Given the description of an element on the screen output the (x, y) to click on. 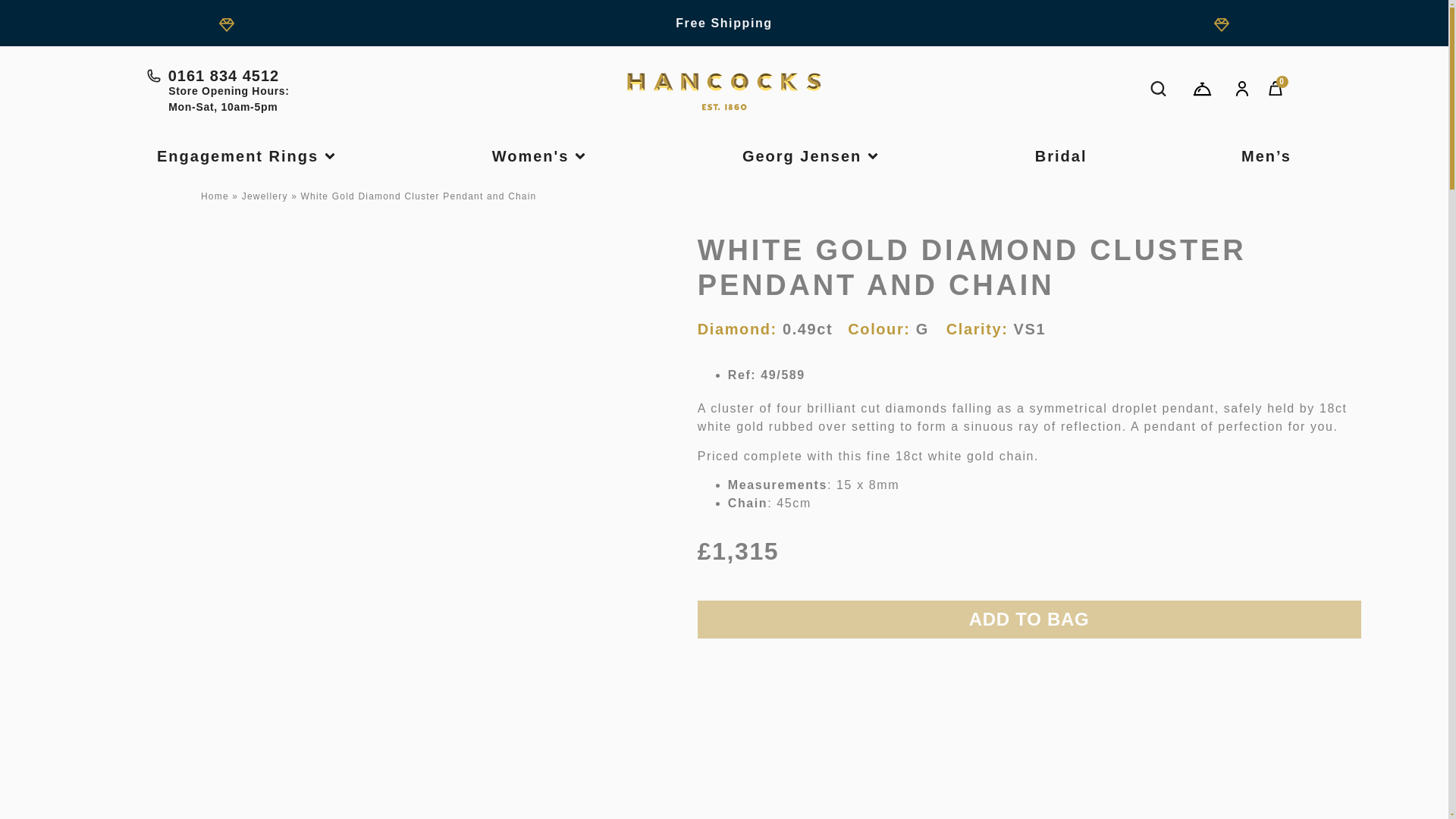
0 (1275, 89)
Engagement Rings (237, 156)
0161 834 4512 (339, 75)
